Given the description of an element on the screen output the (x, y) to click on. 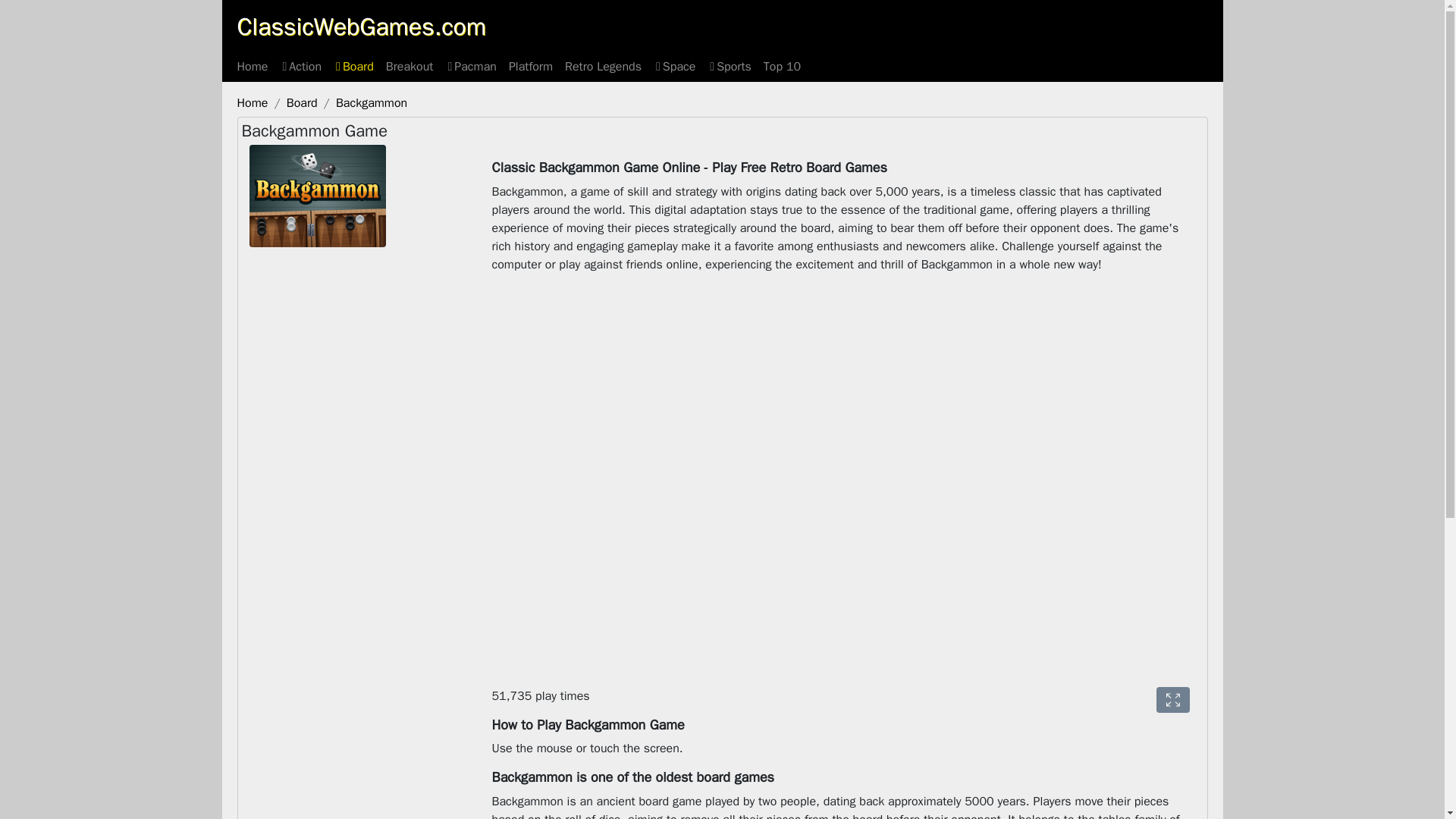
Breakout (409, 66)
Fullscreen (1172, 699)
Platform (530, 66)
Sports (729, 66)
Home (251, 102)
Home (251, 66)
Backgammon Game Image (316, 195)
Pacman (470, 66)
ClassicWebGames.com (361, 27)
Board (301, 102)
